Given the description of an element on the screen output the (x, y) to click on. 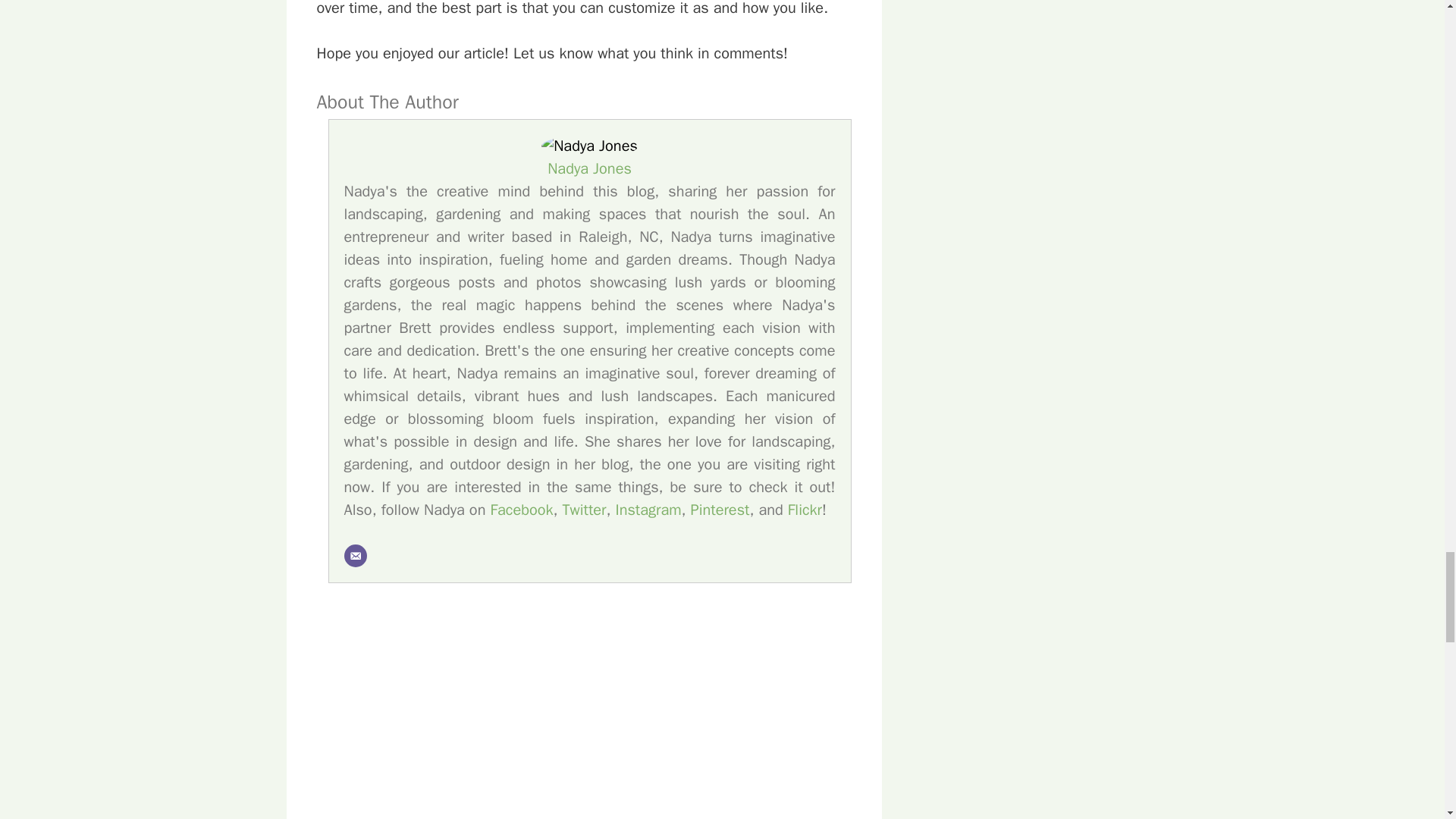
Nadya Jones (589, 169)
